Given the description of an element on the screen output the (x, y) to click on. 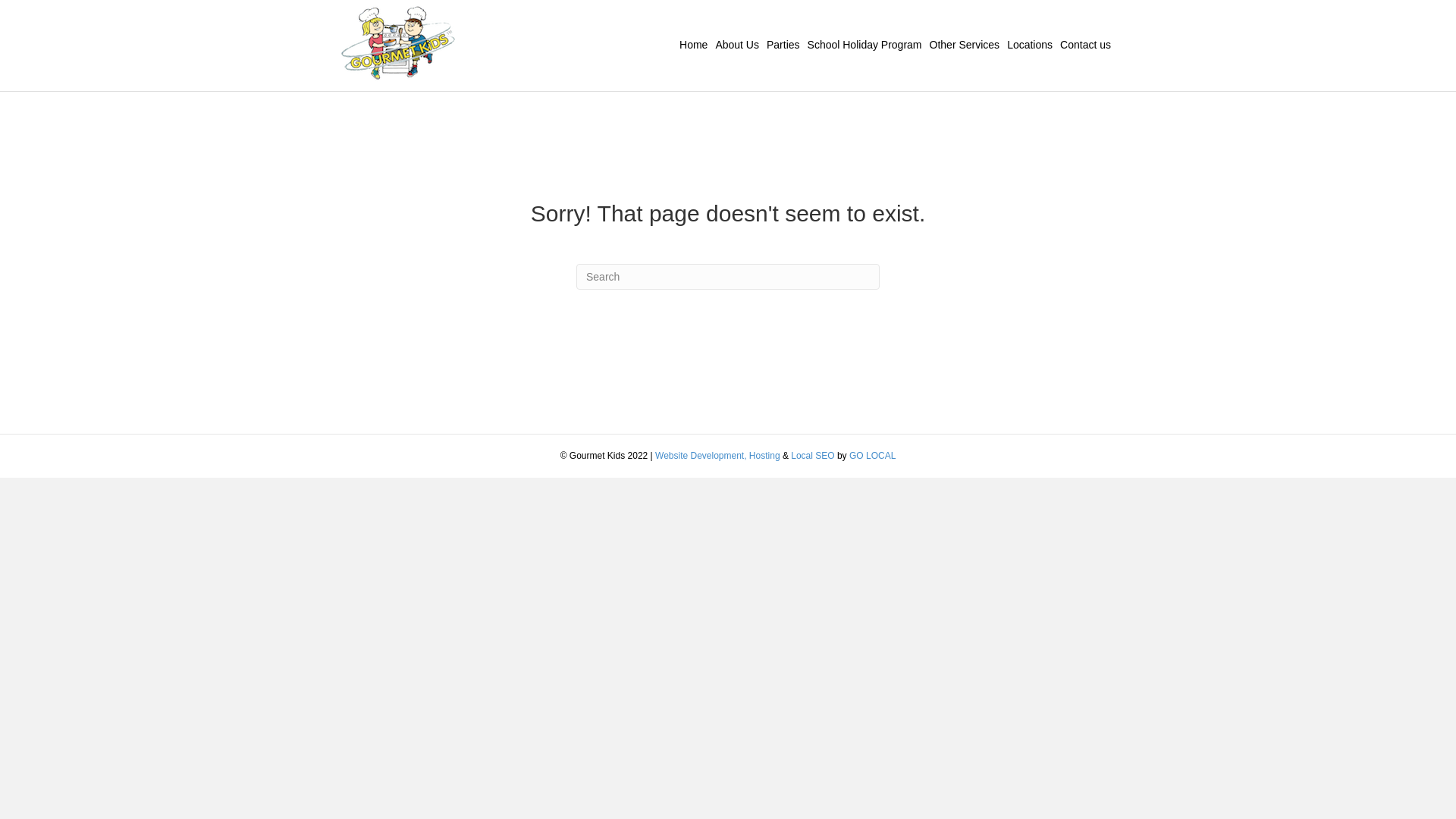
Parties Element type: text (782, 45)
Locations Element type: text (1029, 45)
About Us Element type: text (736, 45)
Home Element type: text (693, 45)
Contact us Element type: text (1085, 45)
Website Development, Hosting Element type: text (717, 455)
School Holiday Program Element type: text (864, 45)
GO LOCAL Element type: text (872, 455)
Other Services Element type: text (964, 45)
Local SEO Element type: text (812, 455)
Type and press Enter to search. Element type: hover (727, 276)
